Given the description of an element on the screen output the (x, y) to click on. 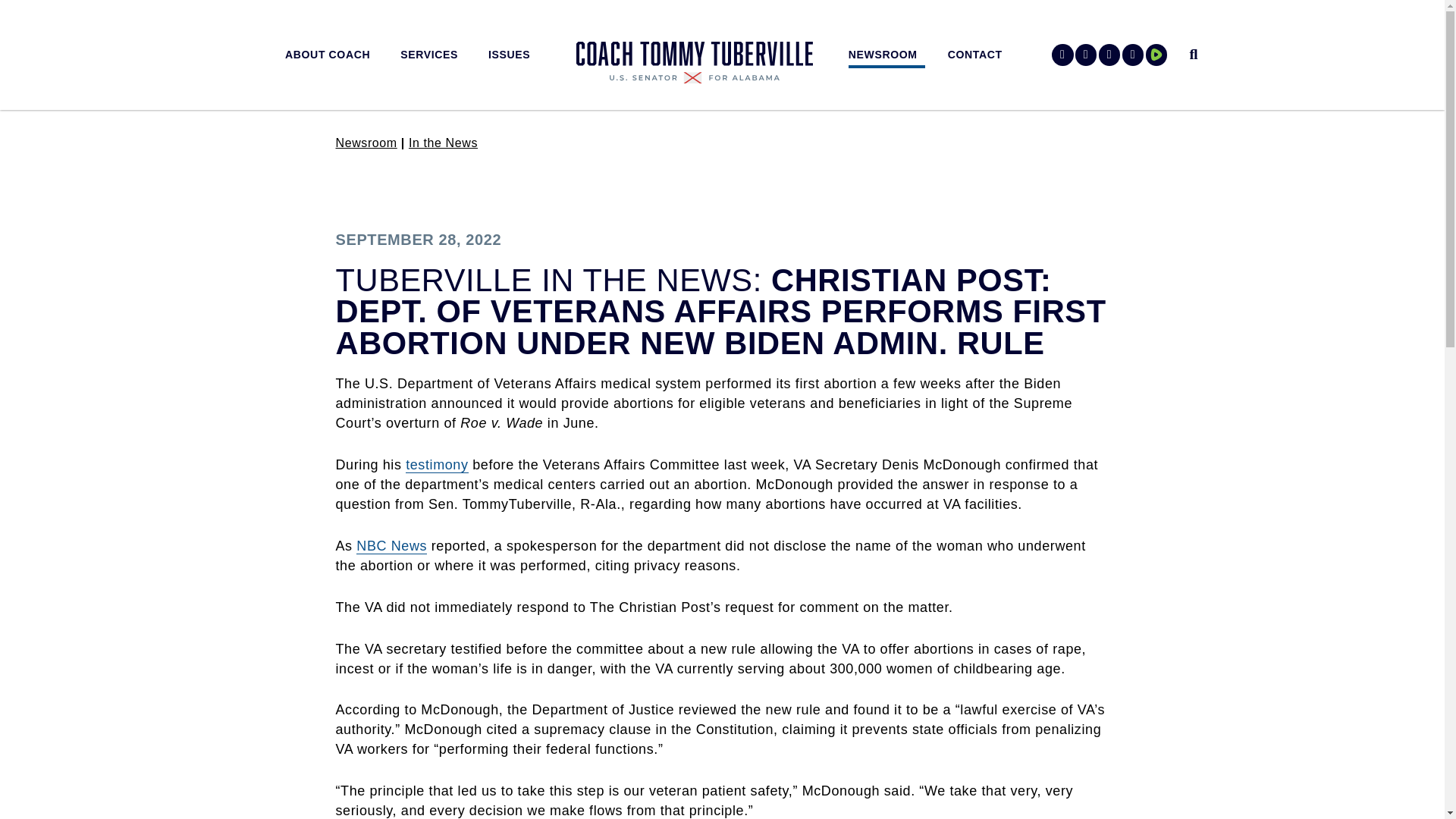
ABOUT COACH (331, 53)
Press Releases (443, 142)
Newsroom (365, 142)
SERVICES (432, 53)
ISSUES (512, 53)
